Given the description of an element on the screen output the (x, y) to click on. 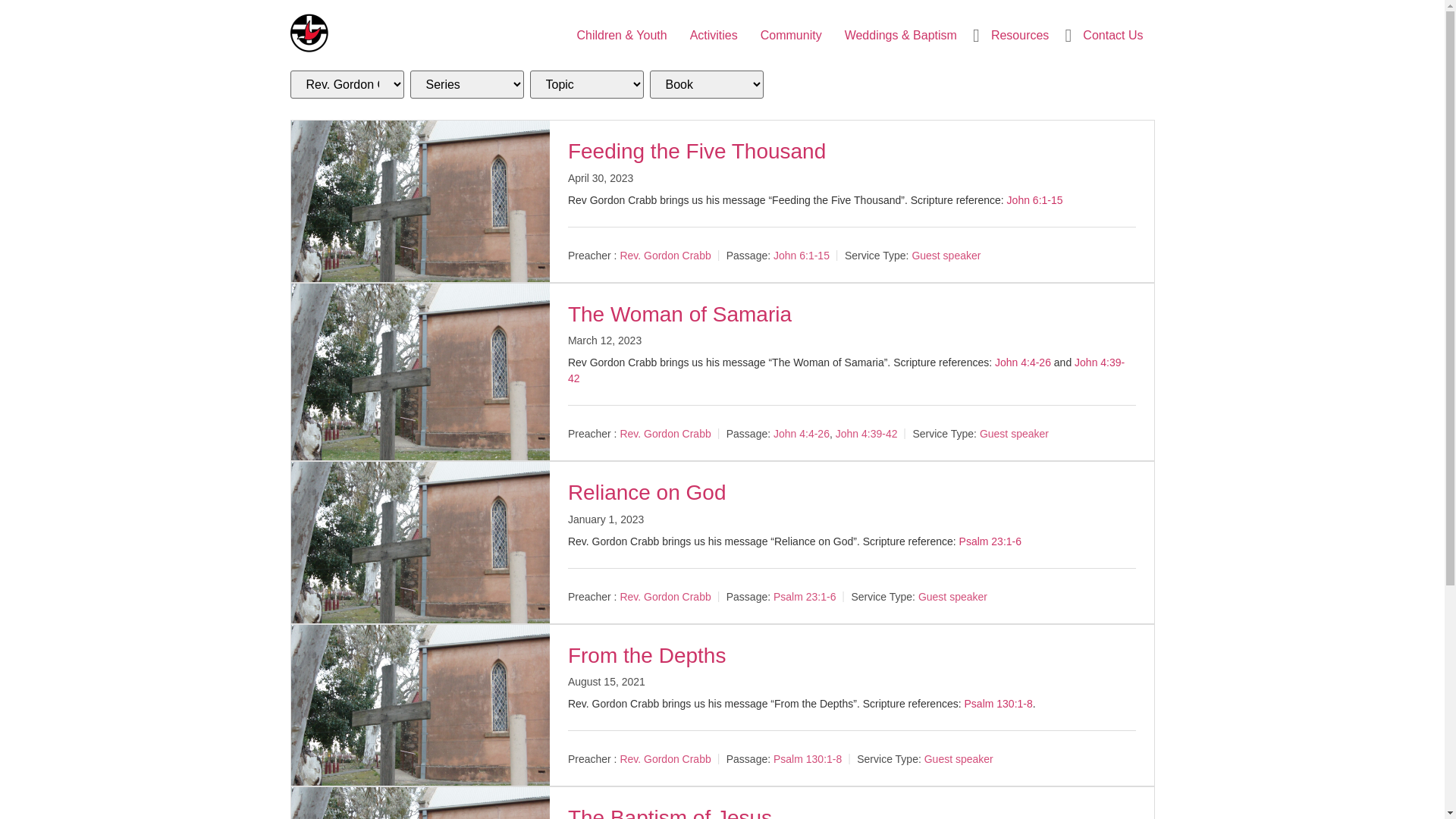
Feeding the Five Thousand Element type: text (696, 151)
Rev. Gordon Crabb Element type: text (664, 254)
John 6:1-15 Element type: text (801, 254)
Guest speaker Element type: text (952, 596)
Rev. Gordon Crabb Element type: text (664, 759)
John 4:4-26 Element type: text (1022, 362)
Guest speaker Element type: text (958, 759)
Rev. Gordon Crabb Element type: text (664, 433)
Psalm 130:1-8 Element type: text (807, 759)
The Woman of Samaria Element type: text (679, 314)
John 4:39-42 Element type: text (866, 433)
Weddings & Baptism Element type: text (900, 34)
Psalm 23:1-6 Element type: text (990, 541)
Children & Youth Element type: text (620, 34)
John 6:1-15 Element type: text (1035, 200)
Rev. Gordon Crabb Element type: text (664, 596)
Community Element type: text (791, 34)
Guest speaker Element type: text (1013, 433)
From the Depths Element type: text (646, 655)
Reliance on God Element type: text (646, 492)
Psalm 130:1-8 Element type: text (998, 703)
Psalm 23:1-6 Element type: text (804, 596)
John 4:4-26 Element type: text (801, 433)
Activities Element type: text (713, 34)
John 4:39-42 Element type: text (845, 370)
Contact Us Element type: text (1112, 34)
Resources Element type: text (1019, 34)
Guest speaker Element type: text (945, 254)
